Given the description of an element on the screen output the (x, y) to click on. 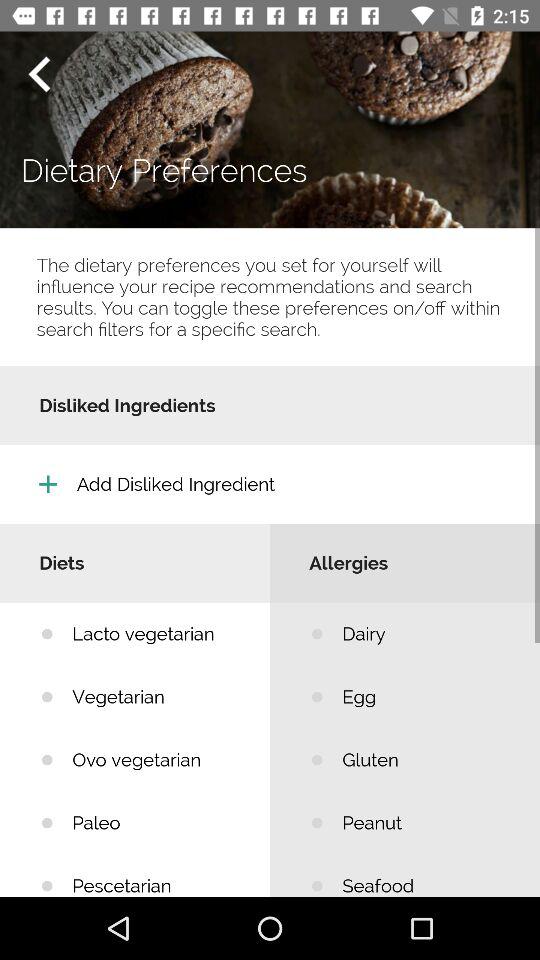
choose item next to gluten (156, 822)
